Given the description of an element on the screen output the (x, y) to click on. 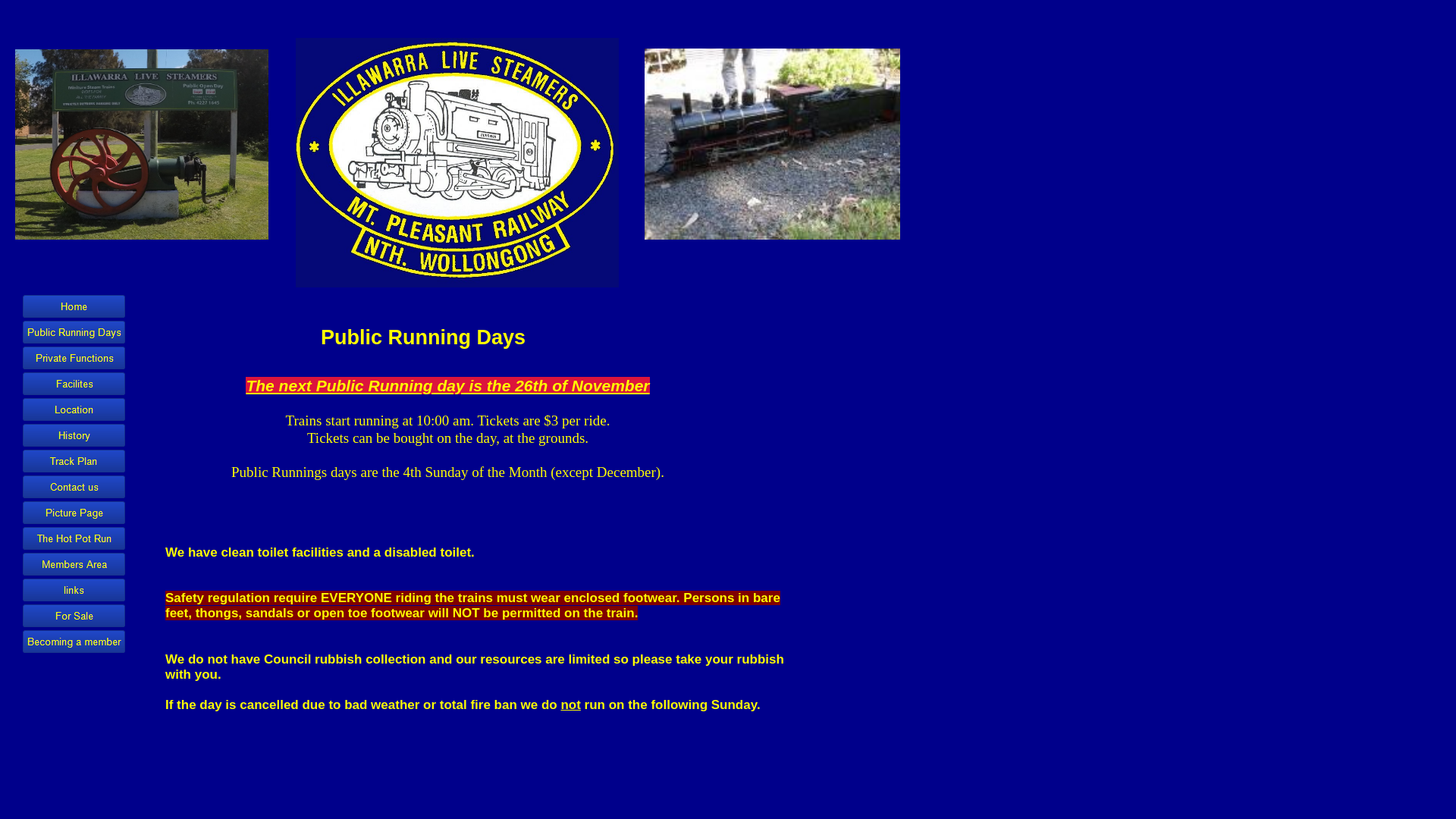
Home Element type: hover (73, 305)
Becoming a member Element type: hover (73, 641)
